Given the description of an element on the screen output the (x, y) to click on. 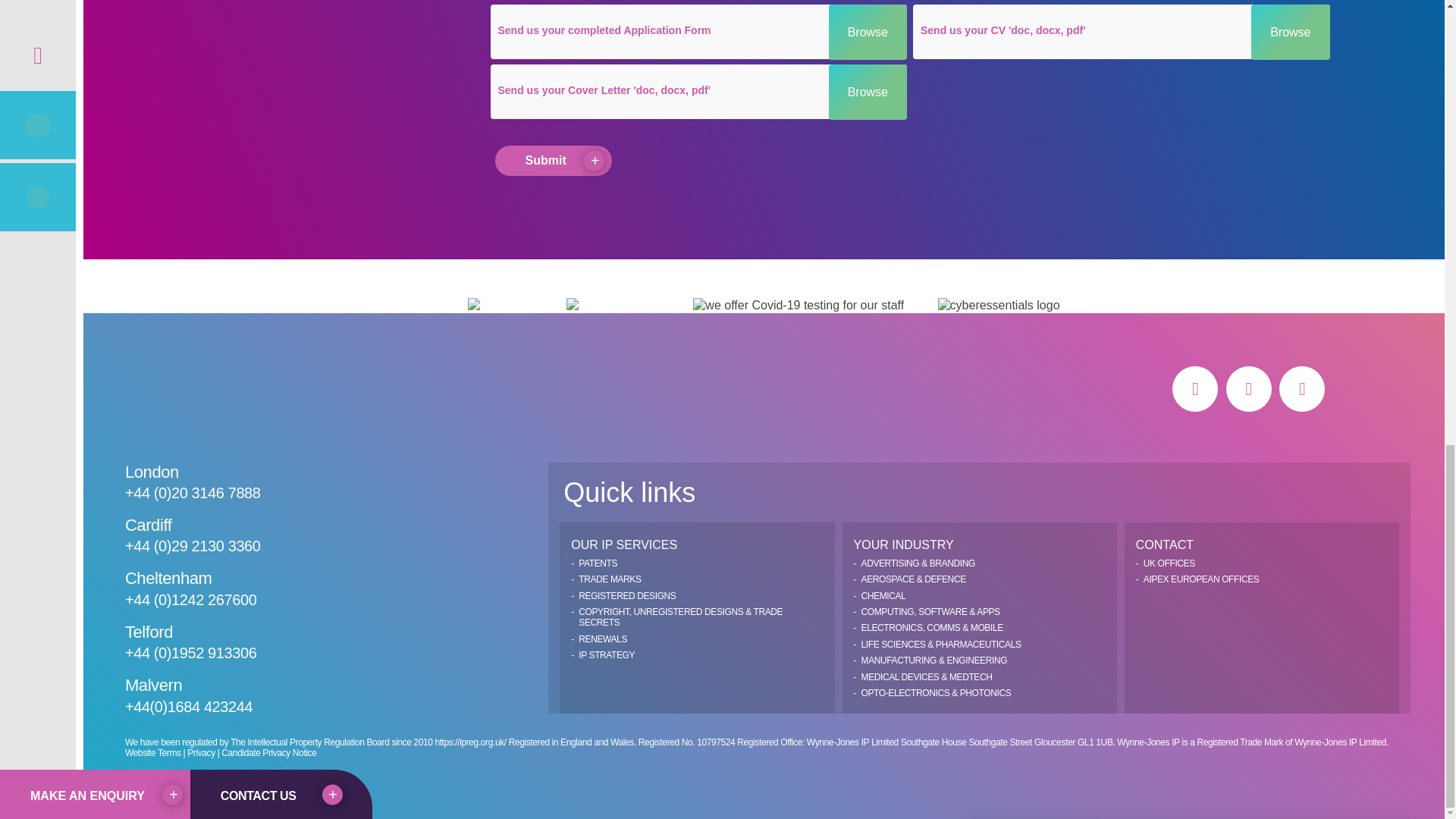
Submit (553, 160)
Wynne Jones IP (212, 389)
